Given the description of an element on the screen output the (x, y) to click on. 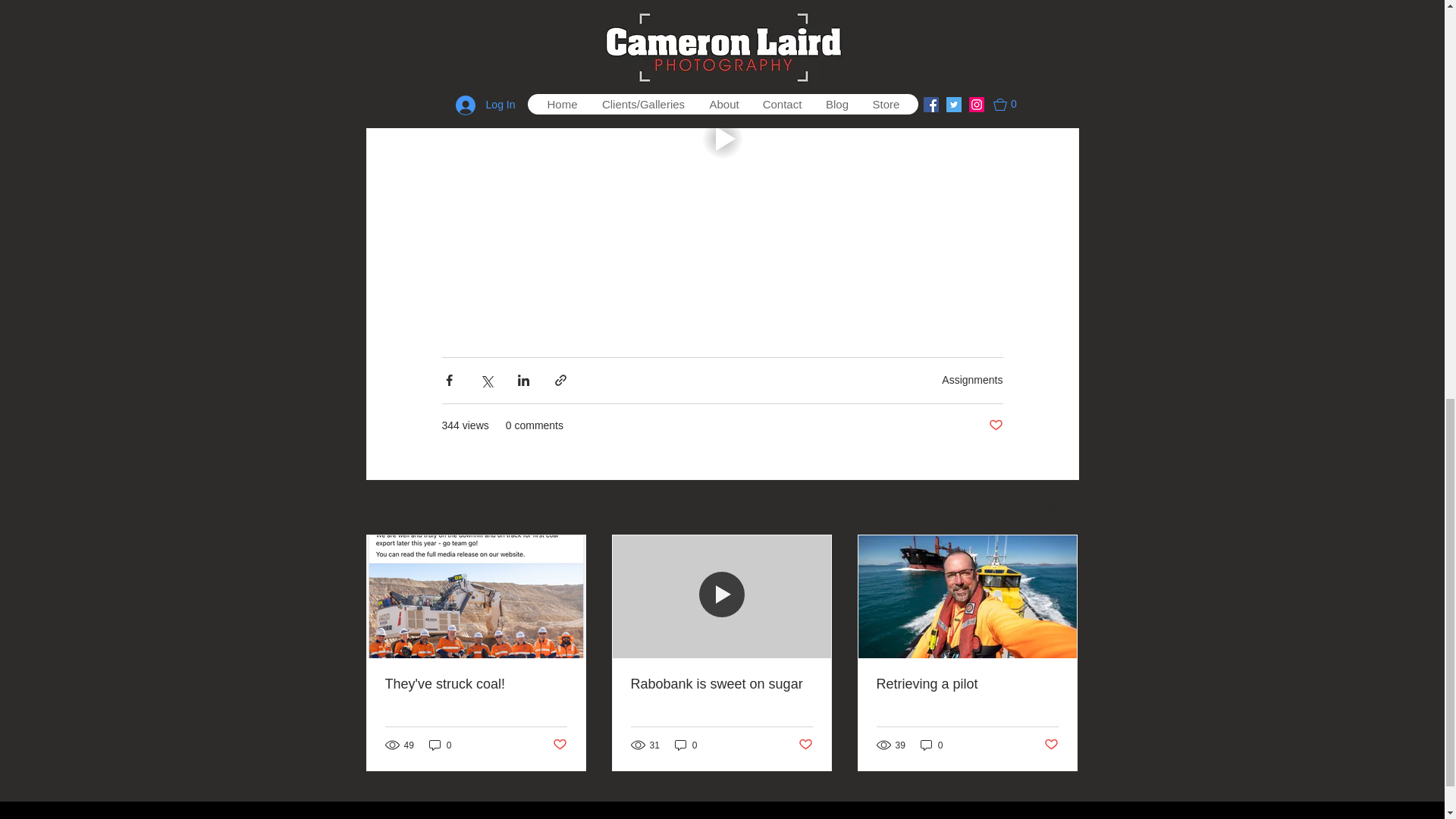
Post not marked as liked (804, 744)
Post not marked as liked (1050, 744)
See All (1061, 508)
0 (931, 744)
Post not marked as liked (995, 424)
0 (440, 744)
Retrieving a pilot (967, 684)
0 (685, 744)
They've struck coal! (476, 684)
Rabobank is sweet on sugar (721, 684)
